Given the description of an element on the screen output the (x, y) to click on. 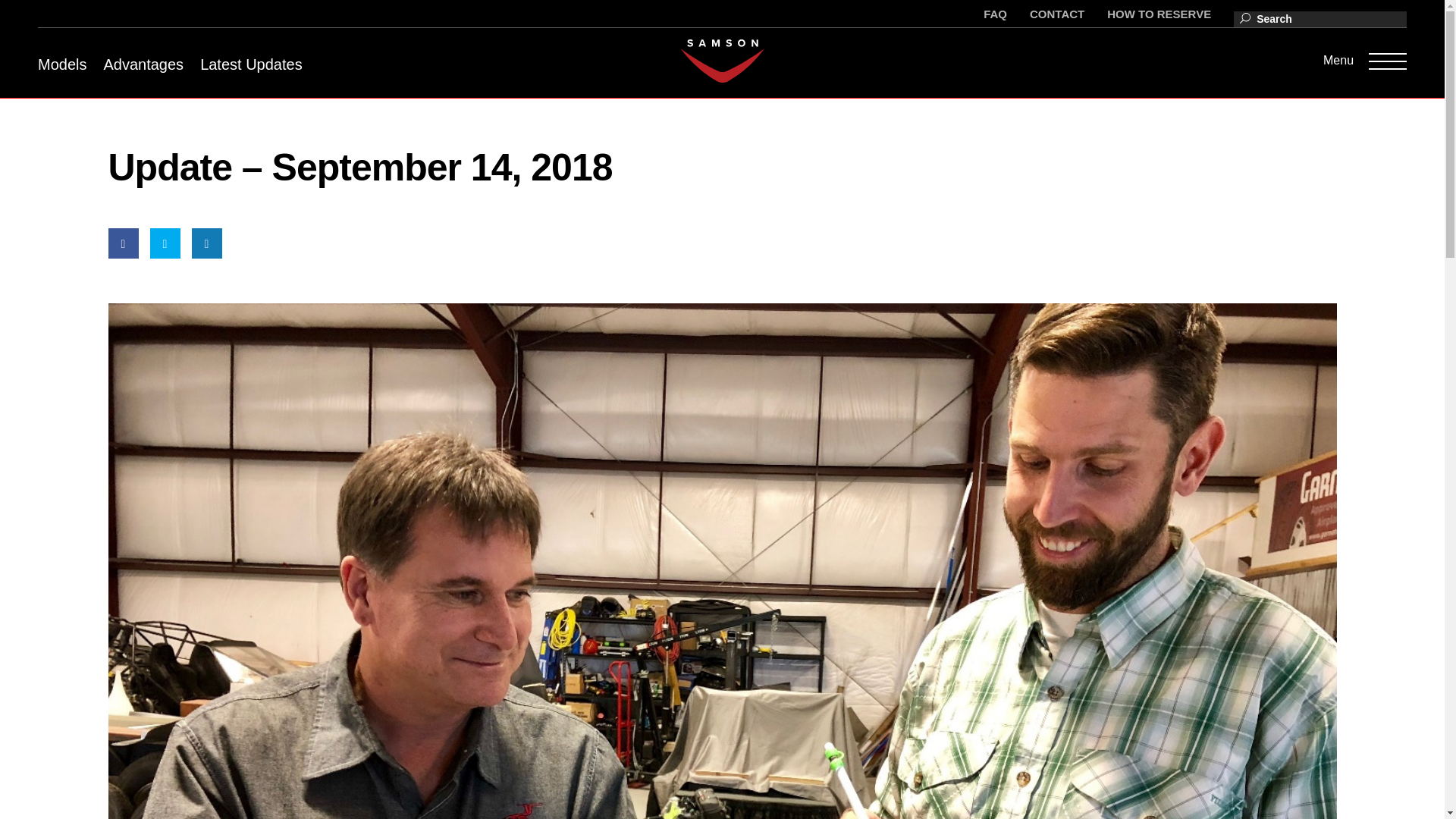
HOW TO RESERVE (1158, 13)
FAQ (995, 13)
CONTACT (1056, 13)
Models (61, 64)
Latest Updates (251, 64)
Search (24, 13)
Advantages (143, 64)
Search (24, 22)
